Given the description of an element on the screen output the (x, y) to click on. 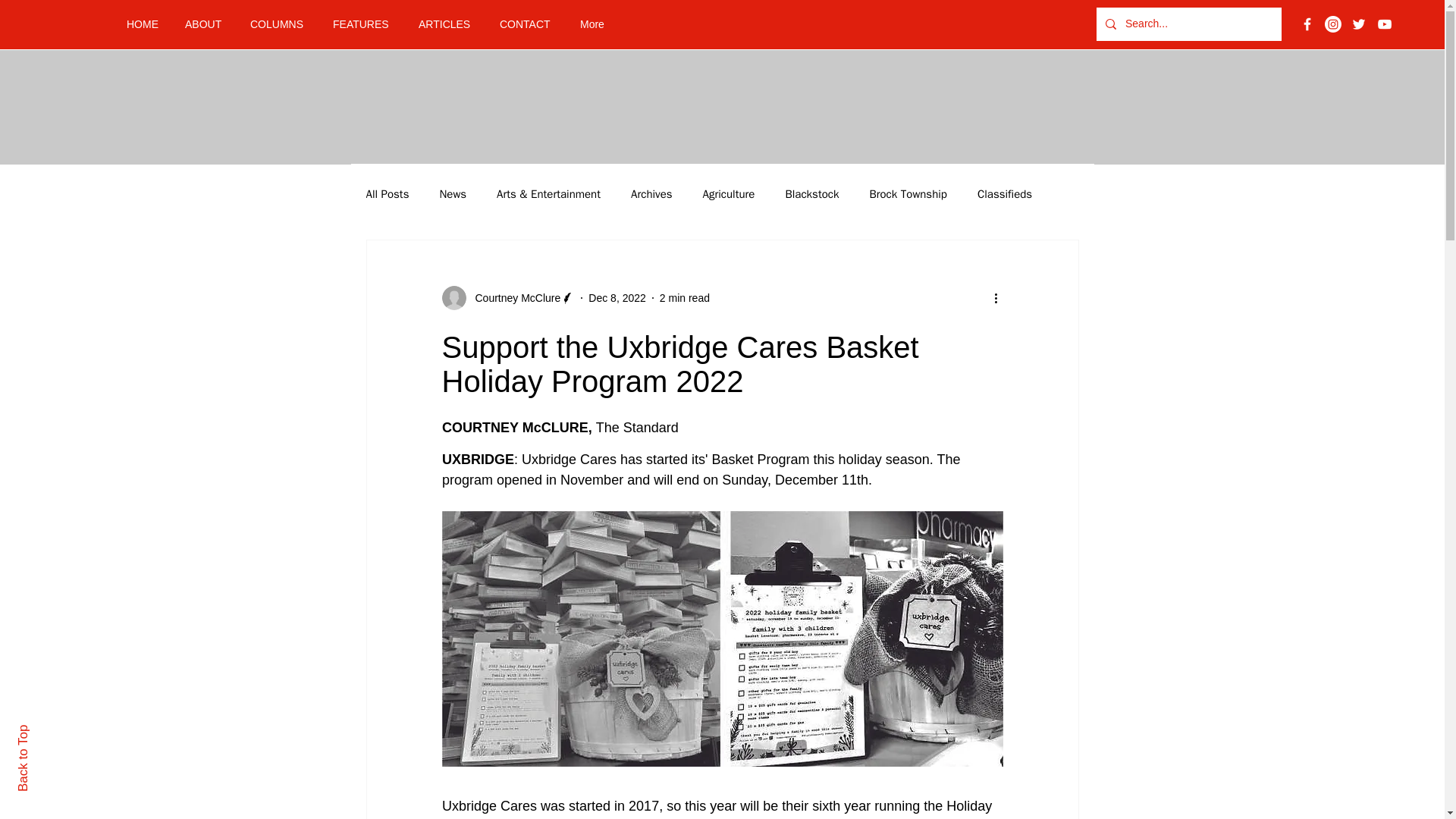
Archives (651, 193)
Brock Township (907, 193)
Courtney McClure (512, 297)
2 min read (684, 297)
Agriculture (729, 193)
News (452, 193)
ABOUT (205, 24)
Classifieds (1004, 193)
Blackstock (811, 193)
HOME (144, 24)
